Given the description of an element on the screen output the (x, y) to click on. 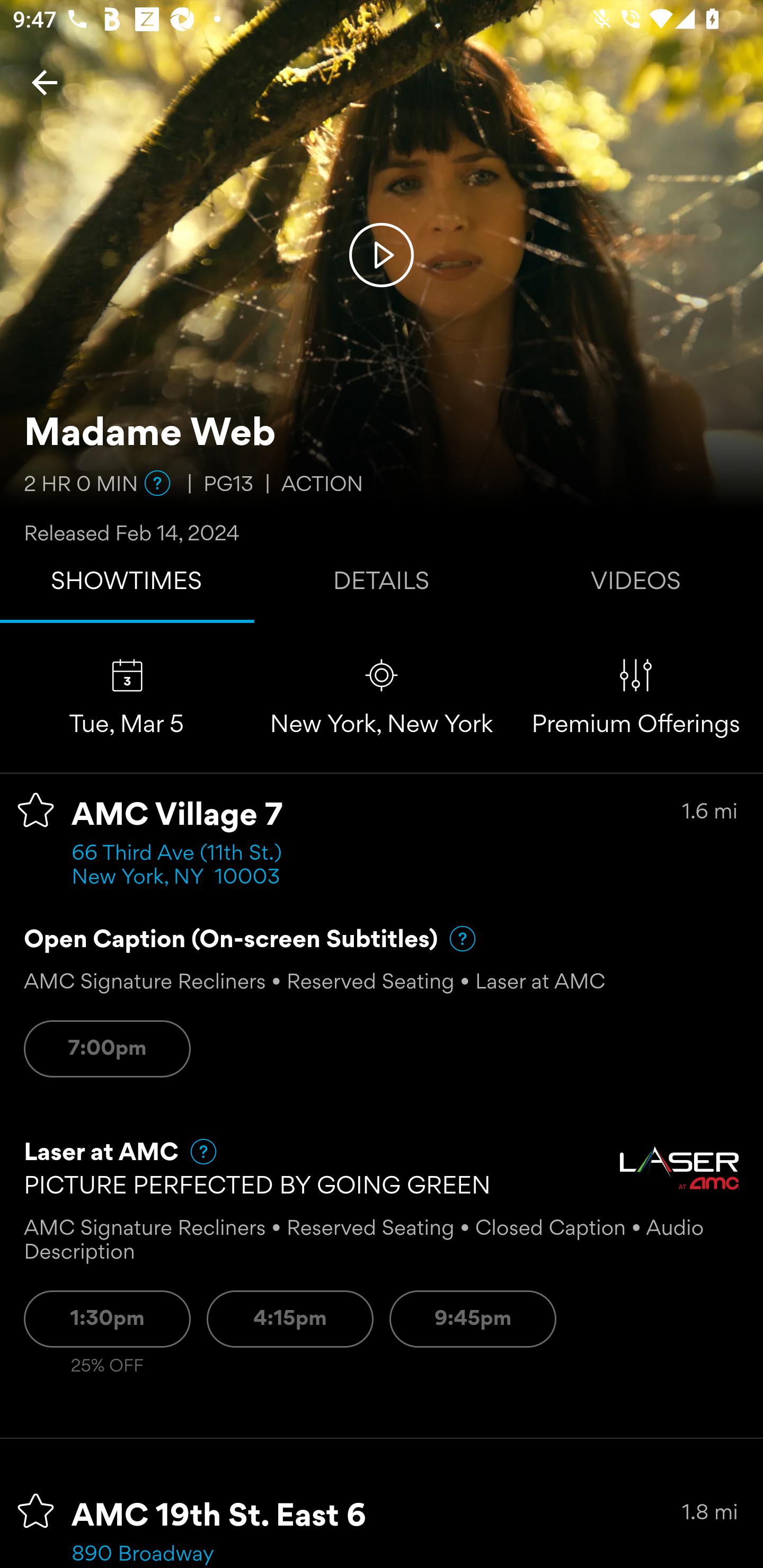
Back (44, 82)
Play (381, 254)
Help (157, 482)
SHOWTIMES
Tab 1 of 3 (127, 584)
DETAILS
Tab 2 of 3 (381, 584)
VIDEOS
Tab 3 of 3 (635, 584)
Change selected day
Tue, Mar 5 (127, 697)
Change location
New York, New York (381, 697)
Premium Offerings
Premium Offerings (635, 697)
AMC Village 7 (177, 816)
66 Third Ave (11th St.)  
New York, NY  10003 (182, 866)
Help (454, 938)
Help (195, 1151)
AMC 19th St. East 6 (219, 1517)
890 Broadway  
New York, NY  10003 (176, 1555)
